Given the description of an element on the screen output the (x, y) to click on. 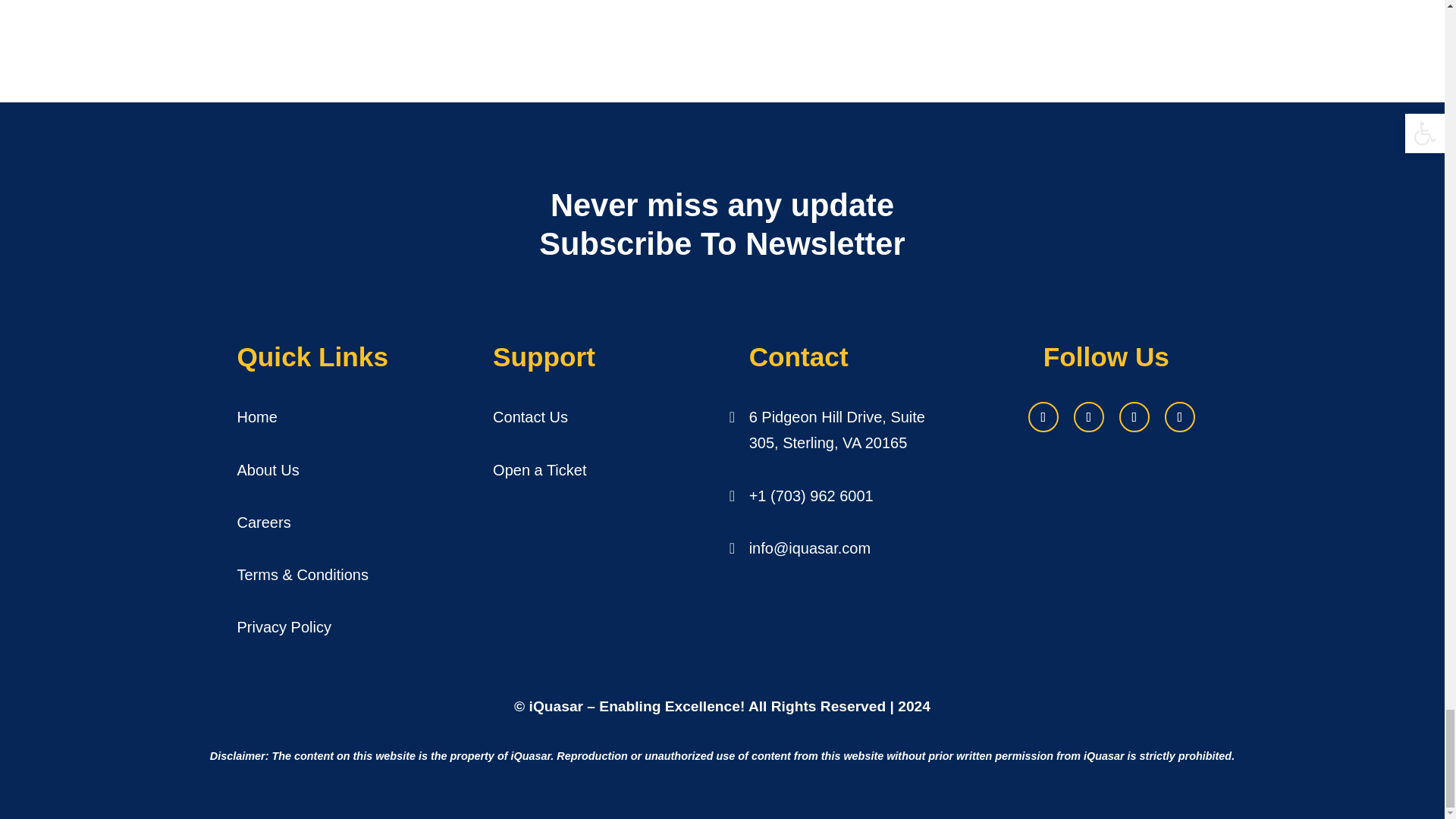
Follow on X (1134, 417)
Follow on Facebook (1042, 417)
Follow on LinkedIn (1088, 417)
Follow on Youtube (1179, 417)
